Given the description of an element on the screen output the (x, y) to click on. 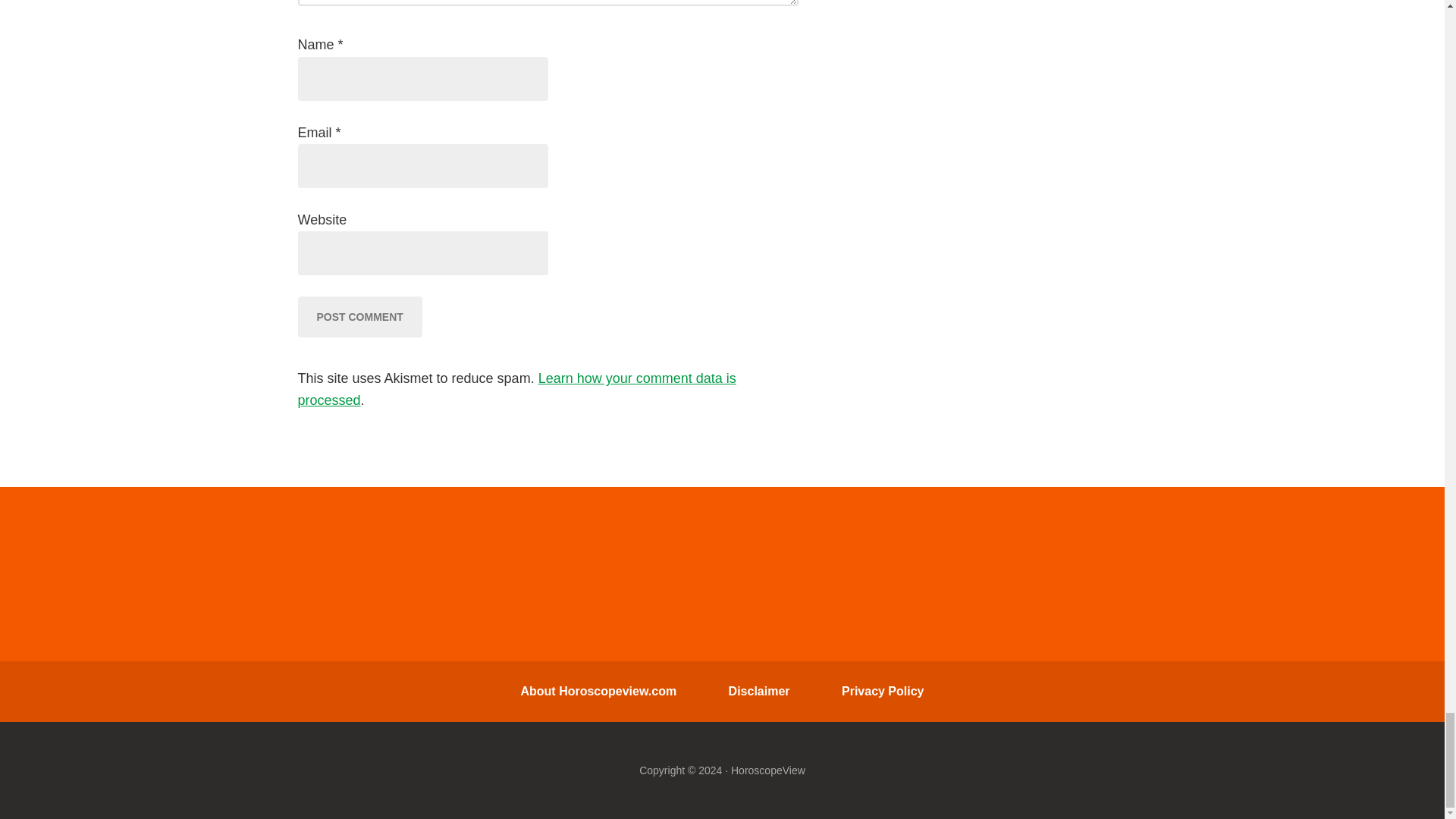
Post Comment (359, 316)
Learn how your comment data is processed (516, 389)
Post Comment (359, 316)
